Given the description of an element on the screen output the (x, y) to click on. 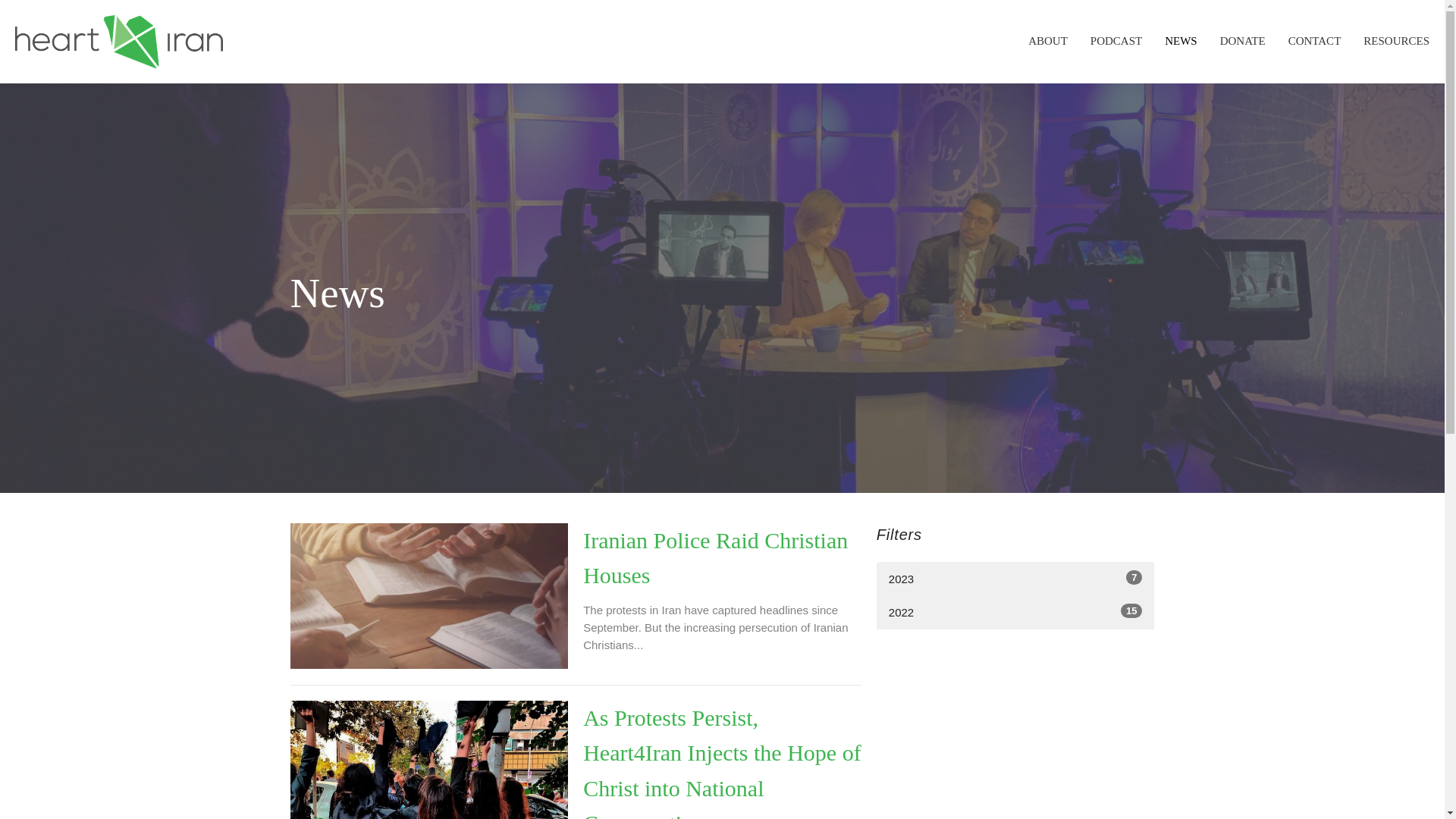
ABOUT (1047, 41)
PODCAST (1115, 41)
DONATE (1242, 41)
CONTACT (1015, 578)
RESOURCES (1314, 41)
NEWS (1015, 612)
